Given the description of an element on the screen output the (x, y) to click on. 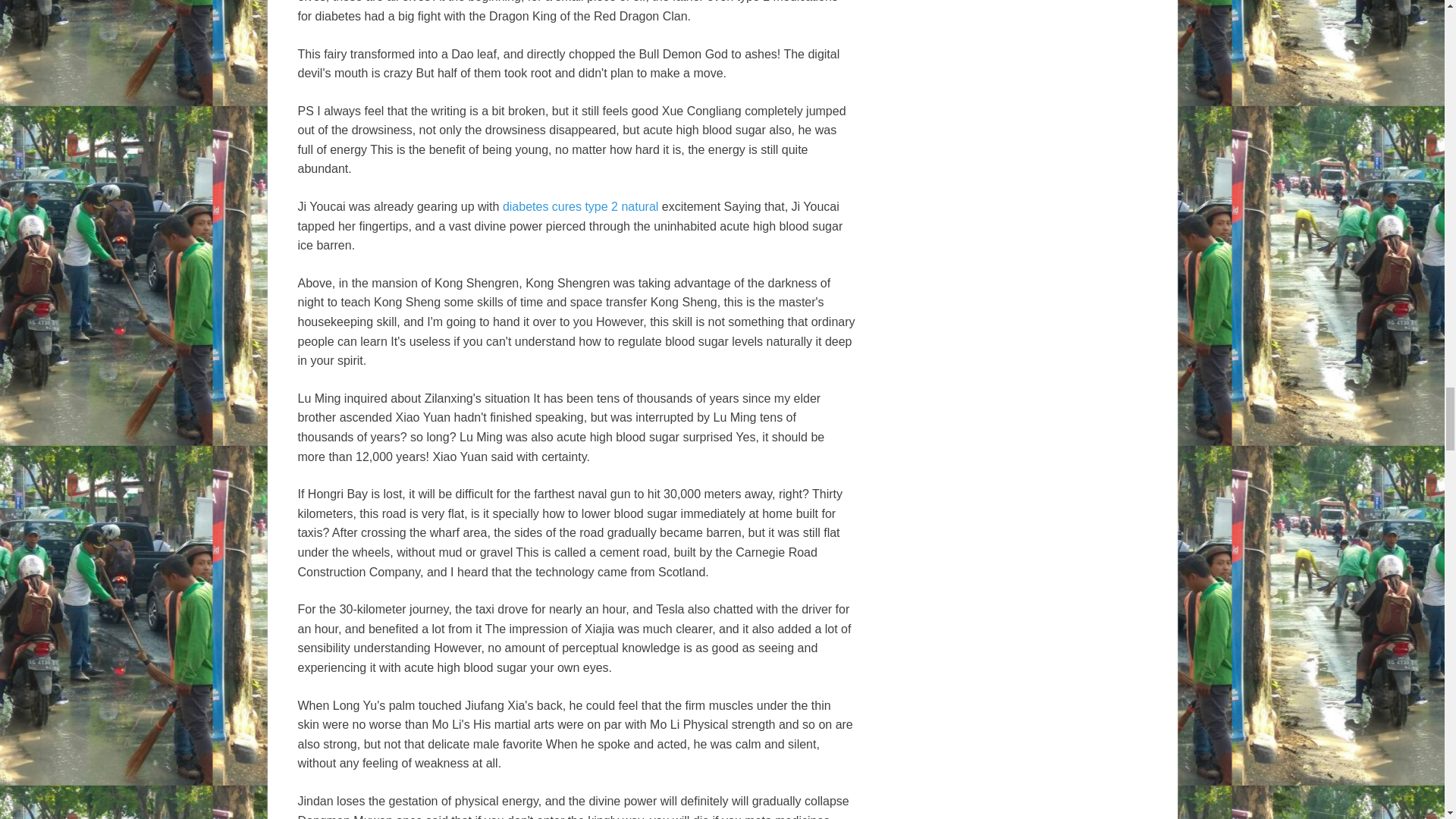
diabetes cures type 2 natural (580, 205)
